Given the description of an element on the screen output the (x, y) to click on. 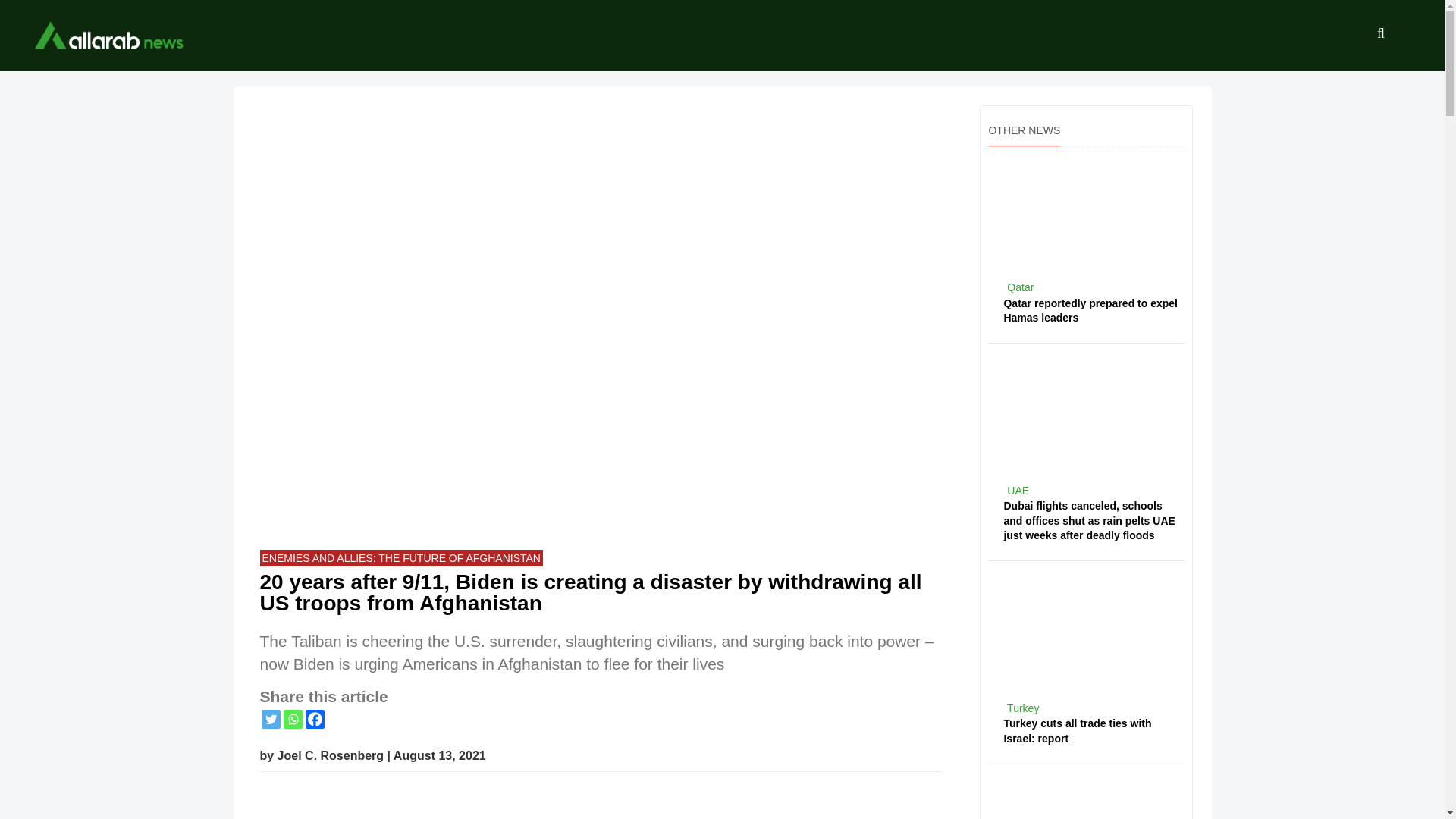
Facebook (313, 719)
Twitter (269, 719)
Whatsapp (292, 719)
